Given the description of an element on the screen output the (x, y) to click on. 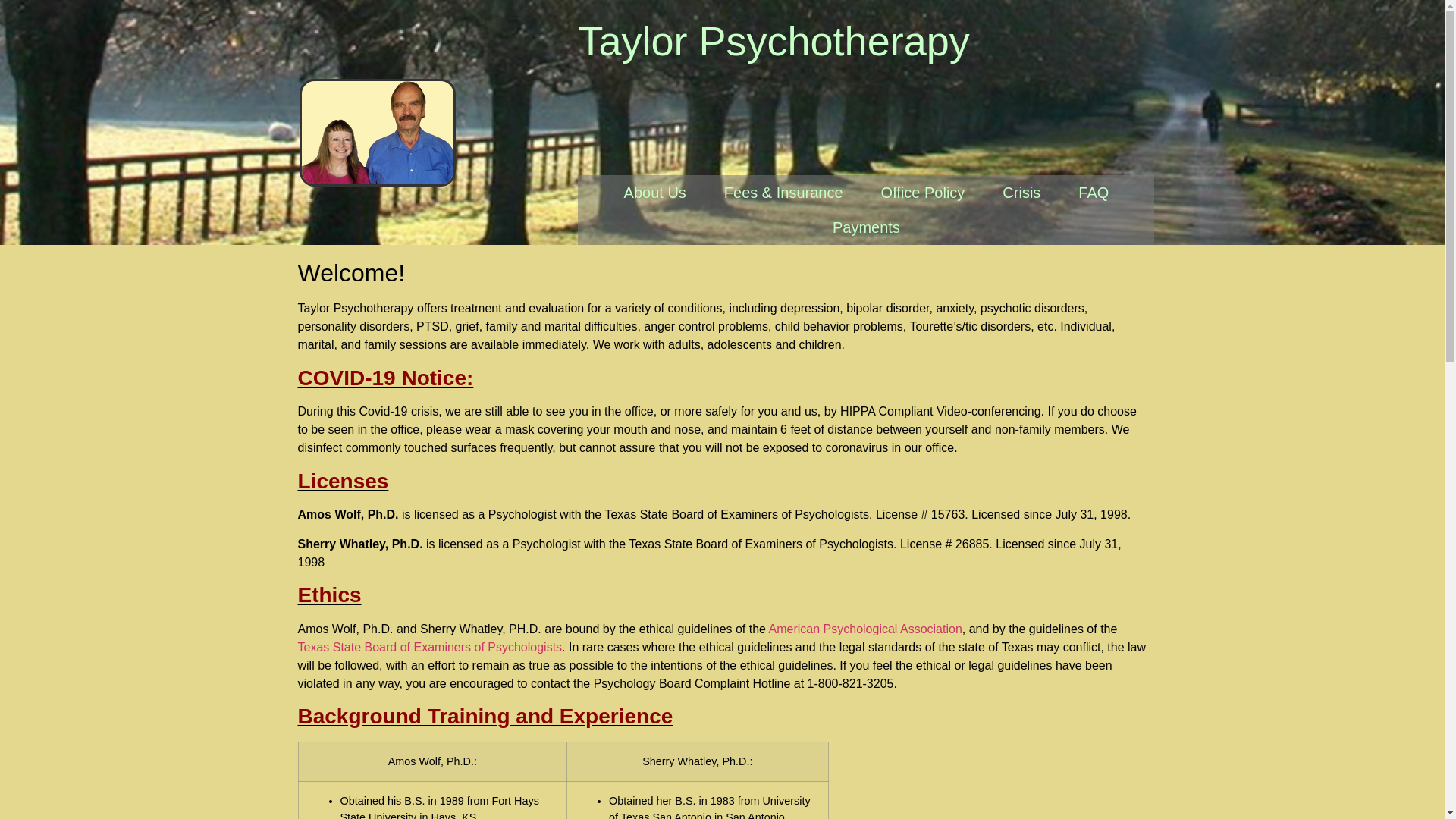
About Us (654, 192)
American Psychological Association (865, 628)
Payments (865, 226)
Office Policy (922, 192)
Crisis (1021, 192)
Texas State Board of Examiners of Psychologists (429, 646)
FAQ (1092, 192)
